Given the description of an element on the screen output the (x, y) to click on. 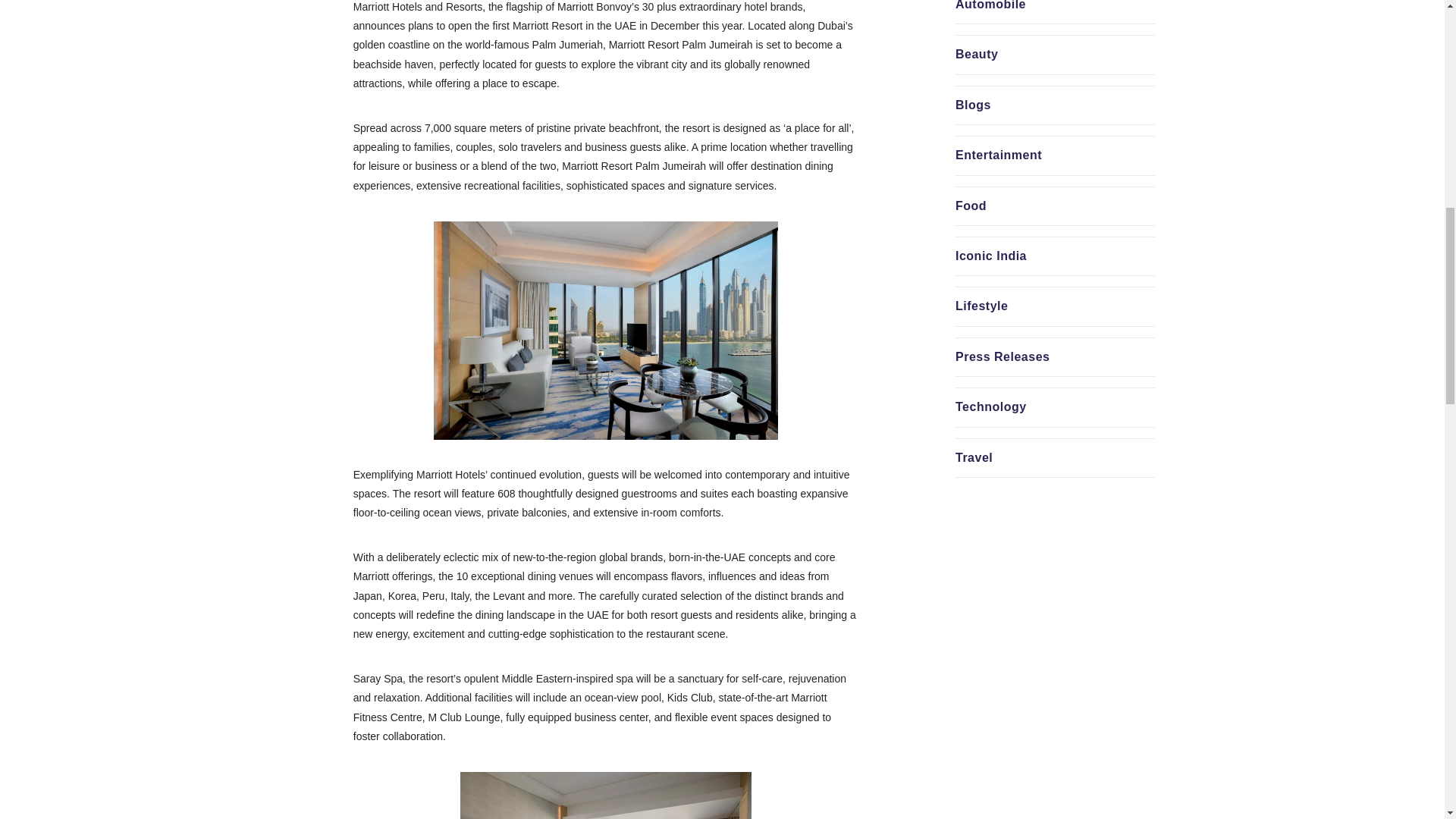
Automobile (990, 5)
Blogs (973, 104)
Beauty (976, 53)
